Given the description of an element on the screen output the (x, y) to click on. 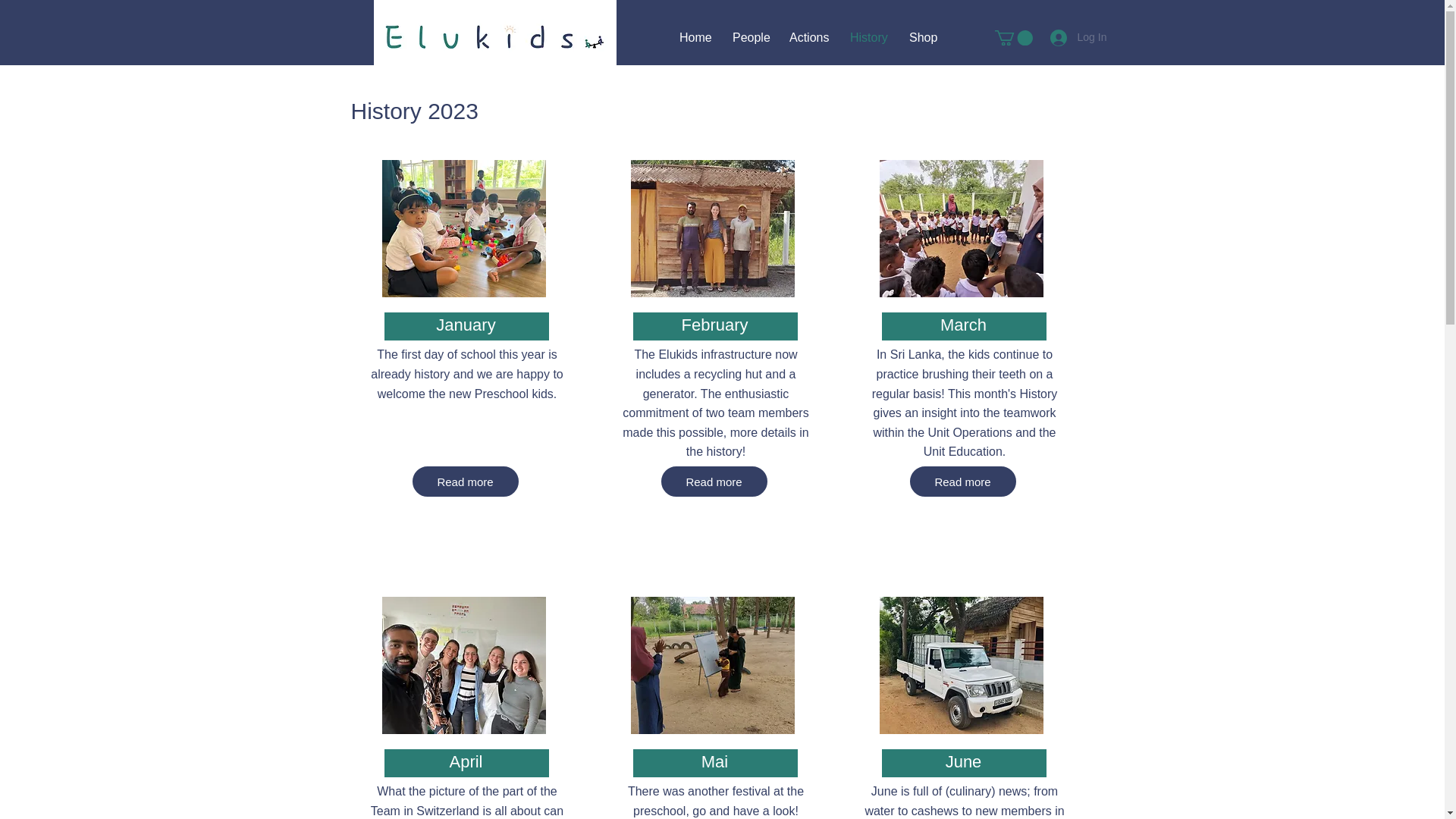
Read more (714, 481)
Home (694, 36)
Log In (1066, 36)
History (868, 36)
Read more (465, 481)
Shop (922, 36)
People (748, 36)
Read more (963, 481)
Actions (807, 36)
